Given the description of an element on the screen output the (x, y) to click on. 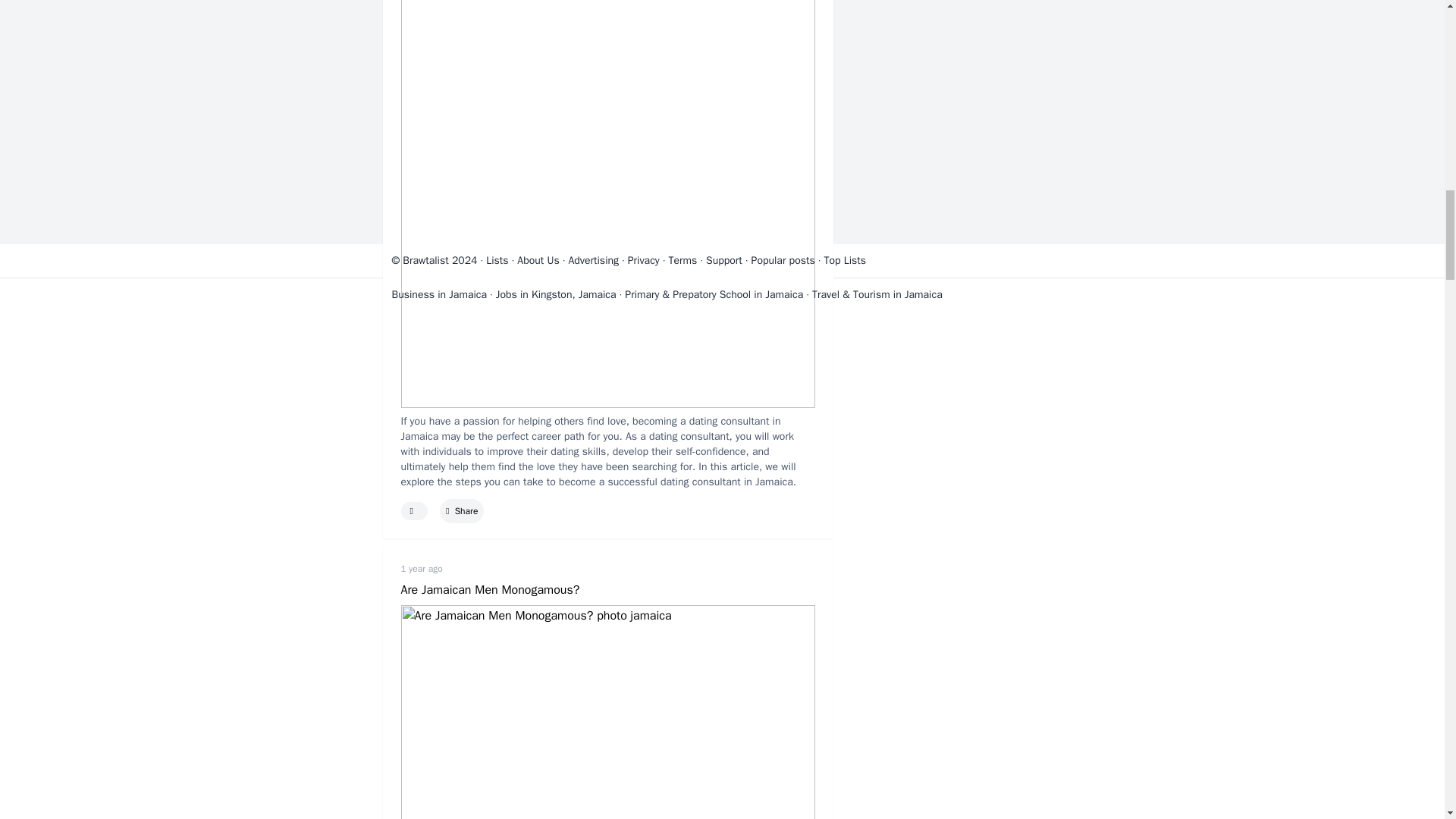
Share (461, 510)
Lists (497, 259)
Like (414, 511)
 Share (461, 510)
